Given the description of an element on the screen output the (x, y) to click on. 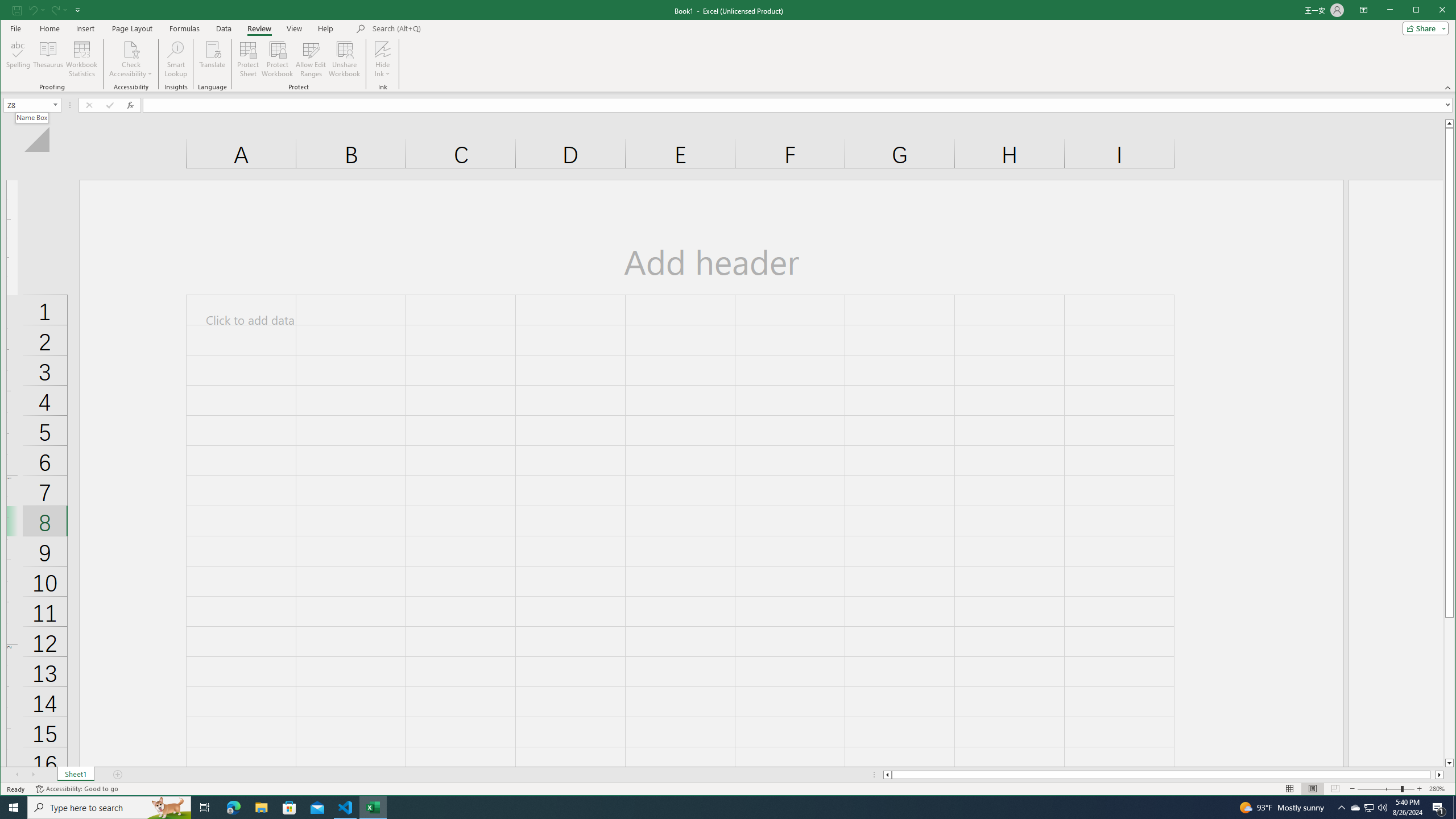
Excel - 1 running window (373, 807)
Check Accessibility (130, 48)
Type here to search (108, 807)
Show desktop (1454, 807)
Q2790: 100% (1382, 807)
Running applications (717, 807)
Action Center, 1 new notification (1439, 807)
